Given the description of an element on the screen output the (x, y) to click on. 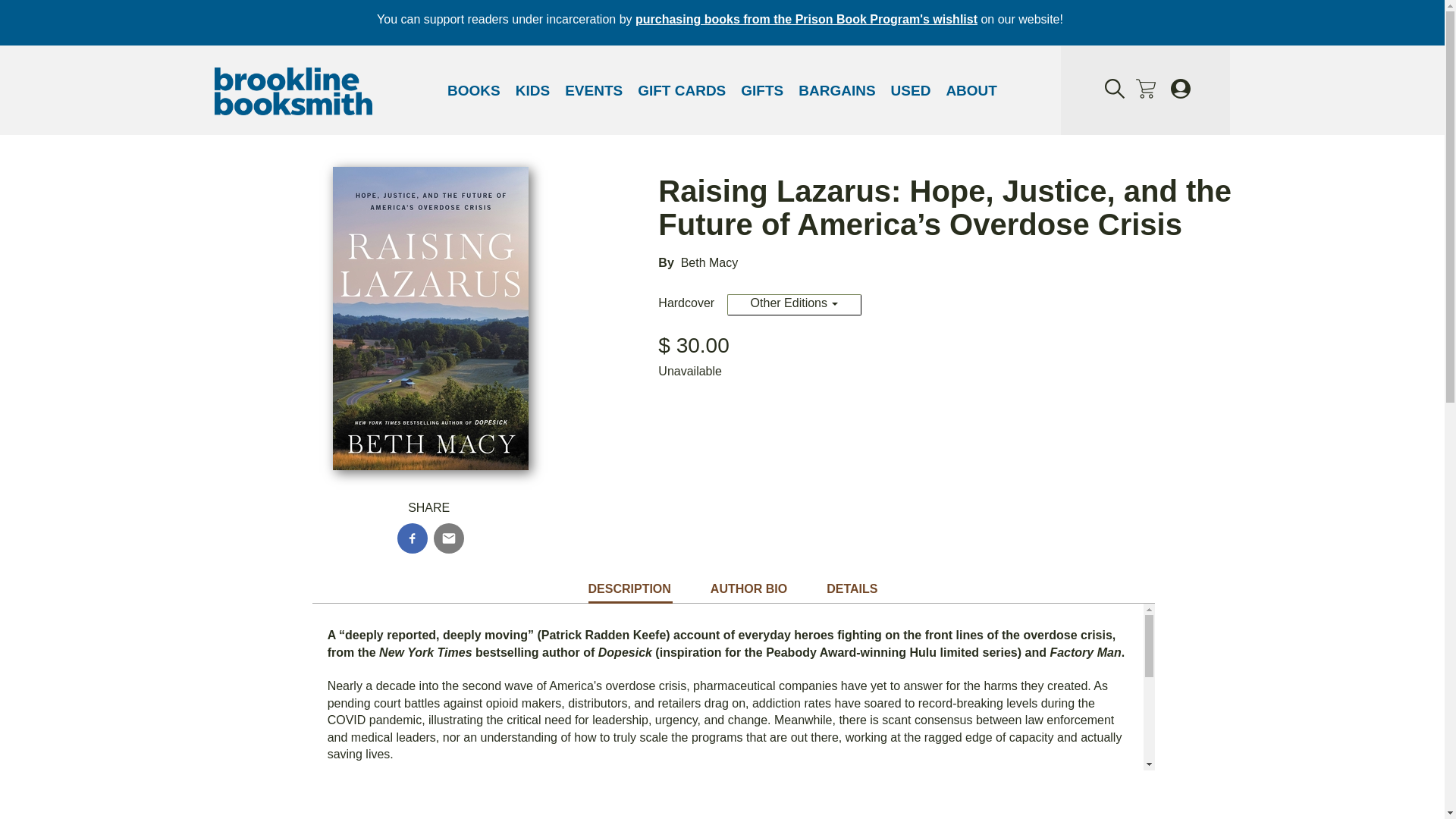
EVENTS (593, 90)
BOOKS (473, 90)
KIDS (532, 90)
purchasing books from the Prison Book Program's wishlist (805, 19)
Home (292, 93)
